Given the description of an element on the screen output the (x, y) to click on. 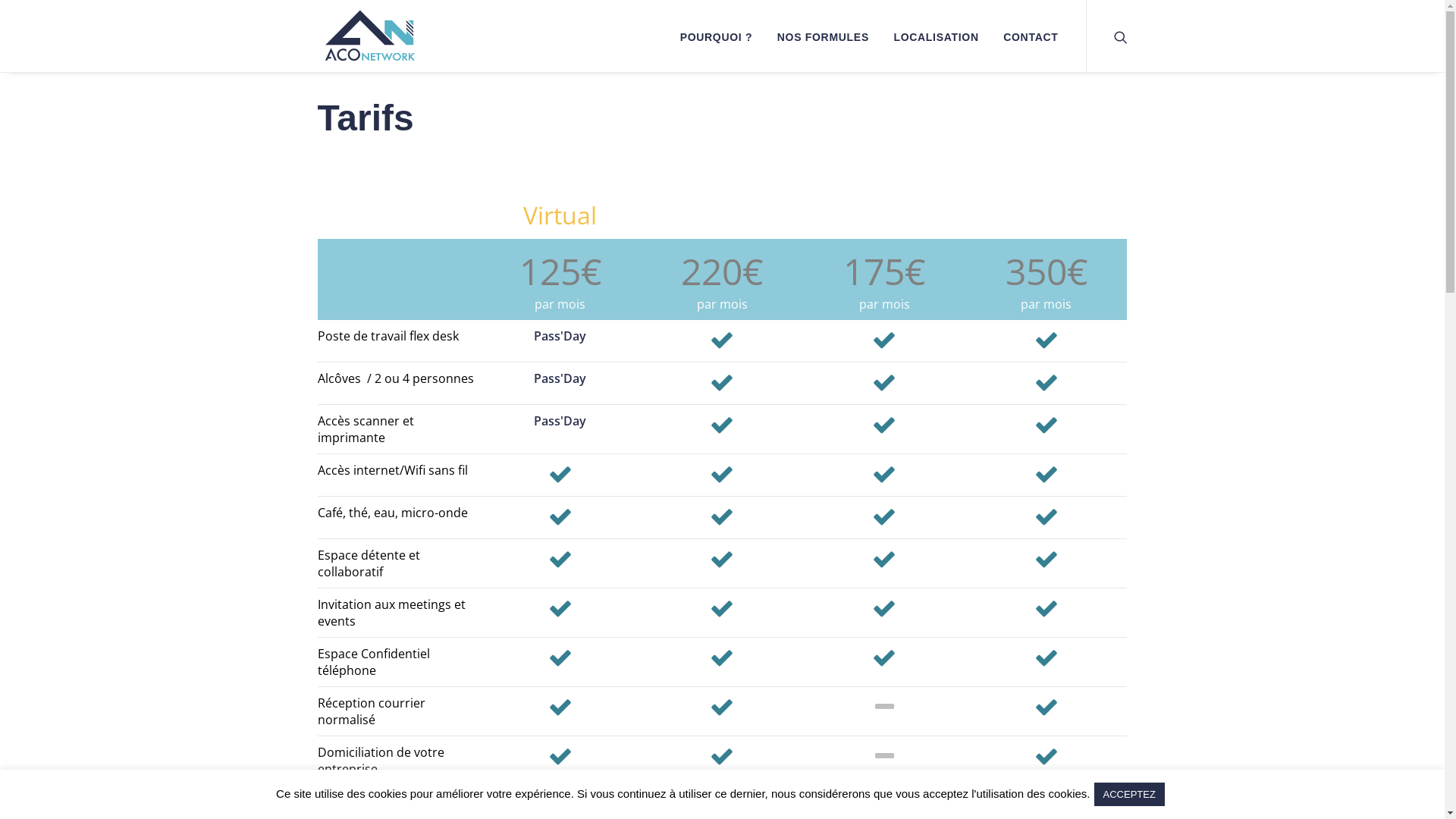
ACCEPTEZ Element type: text (1129, 794)
LOCALISATION Element type: text (935, 36)
CONTACT Element type: text (1024, 36)
POURQUOI ? Element type: text (716, 36)
NOS FORMULES Element type: text (822, 36)
